Given the description of an element on the screen output the (x, y) to click on. 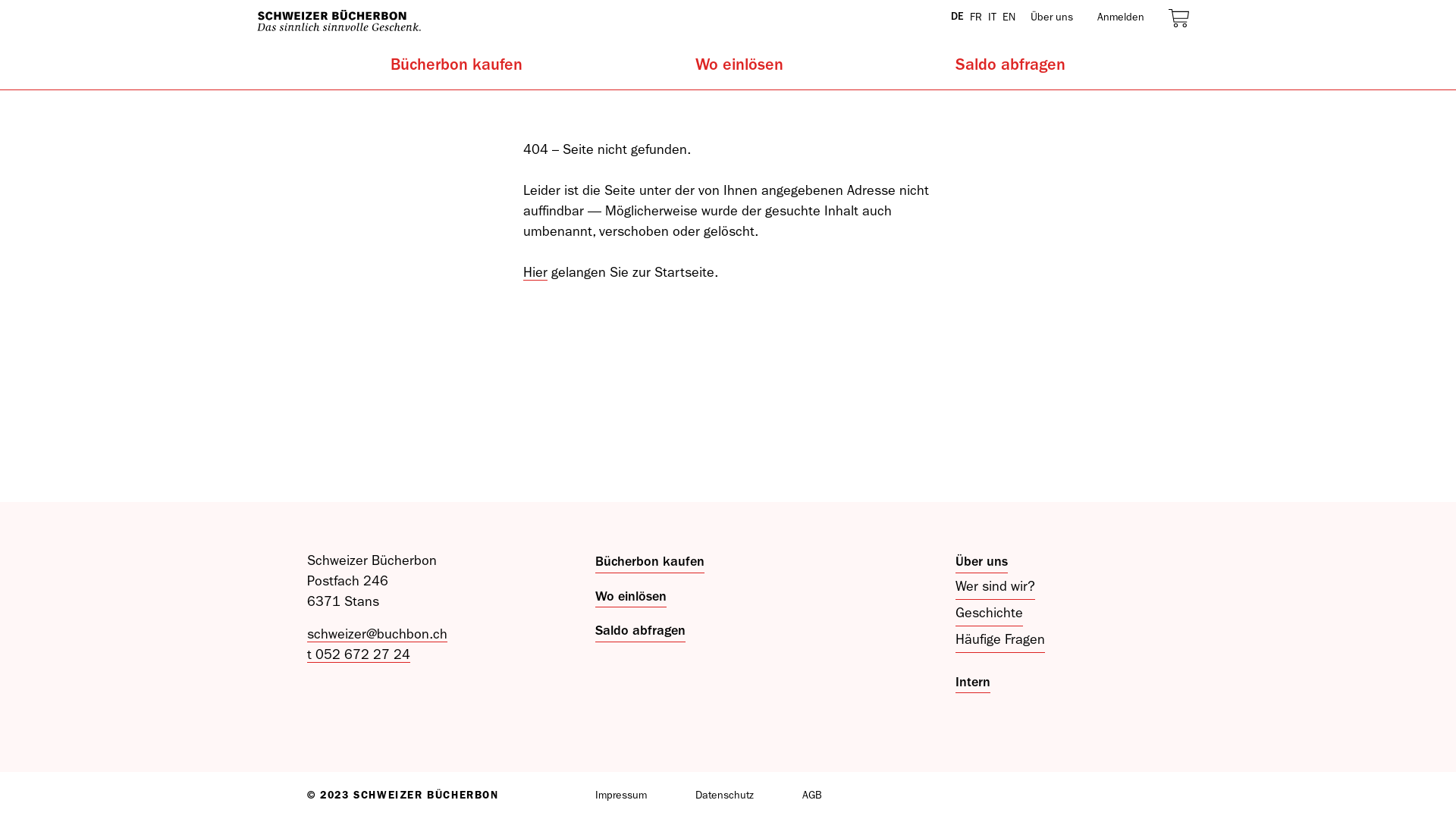
Anmelden Element type: text (1120, 17)
Datenschutz Element type: text (748, 795)
Saldo abfragen Element type: text (640, 630)
Impressum Element type: text (645, 795)
DE Element type: text (956, 17)
IT Element type: text (992, 17)
Saldo abfragen Element type: text (1010, 70)
Wer sind wir? Element type: text (995, 586)
Intern Element type: text (972, 682)
FR Element type: text (975, 17)
EN Element type: text (1008, 17)
Hier Element type: text (535, 272)
schweizer@buchbon.ch Element type: text (377, 634)
AGB Element type: text (836, 795)
t 052 672 27 24 Element type: text (358, 654)
Geschichte Element type: text (988, 612)
